Given the description of an element on the screen output the (x, y) to click on. 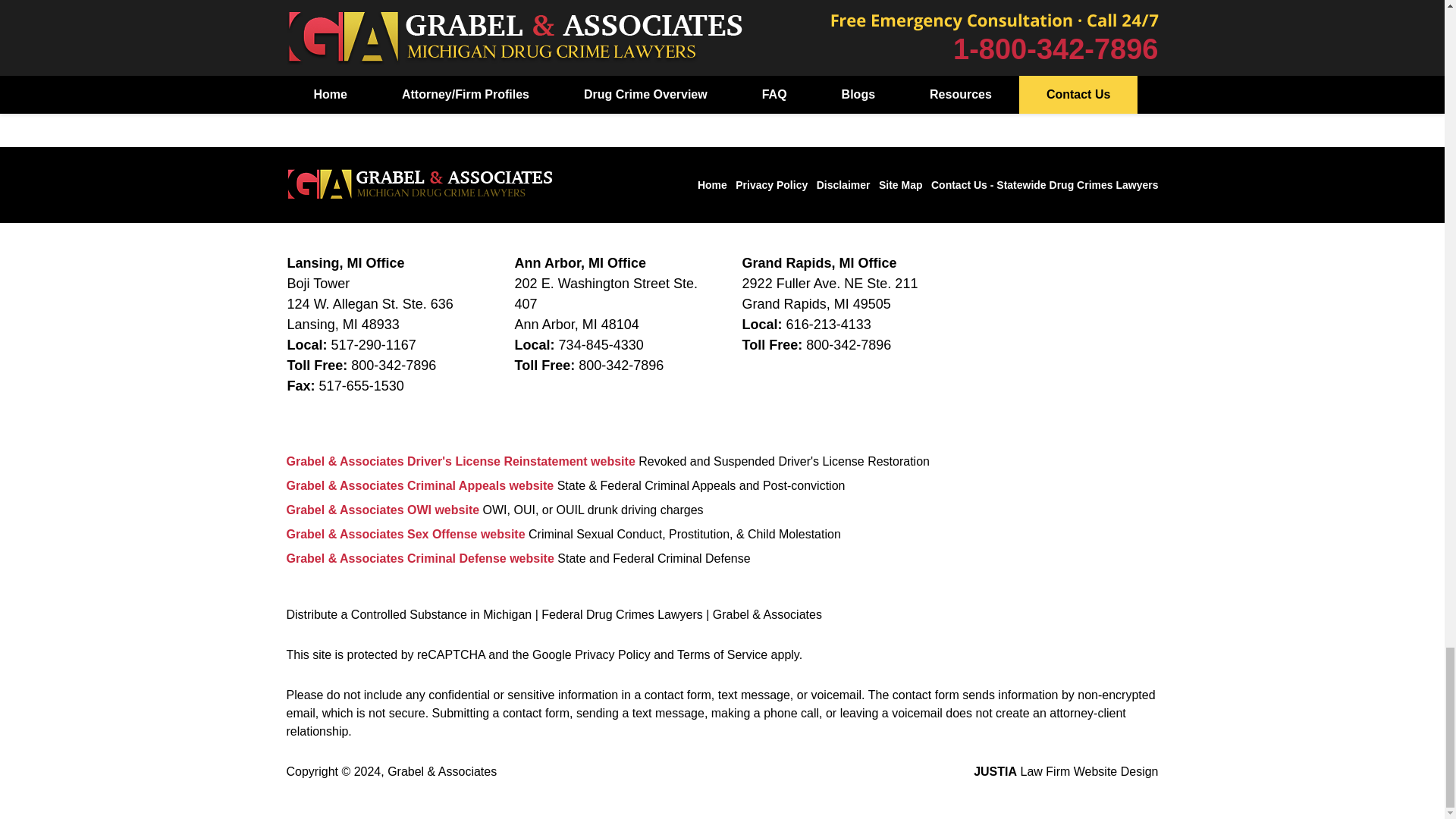
Facebook (1004, 12)
YouTube (1004, 56)
Justia (1130, 12)
Twitter (1046, 12)
LinkedIn (1088, 12)
